Given the description of an element on the screen output the (x, y) to click on. 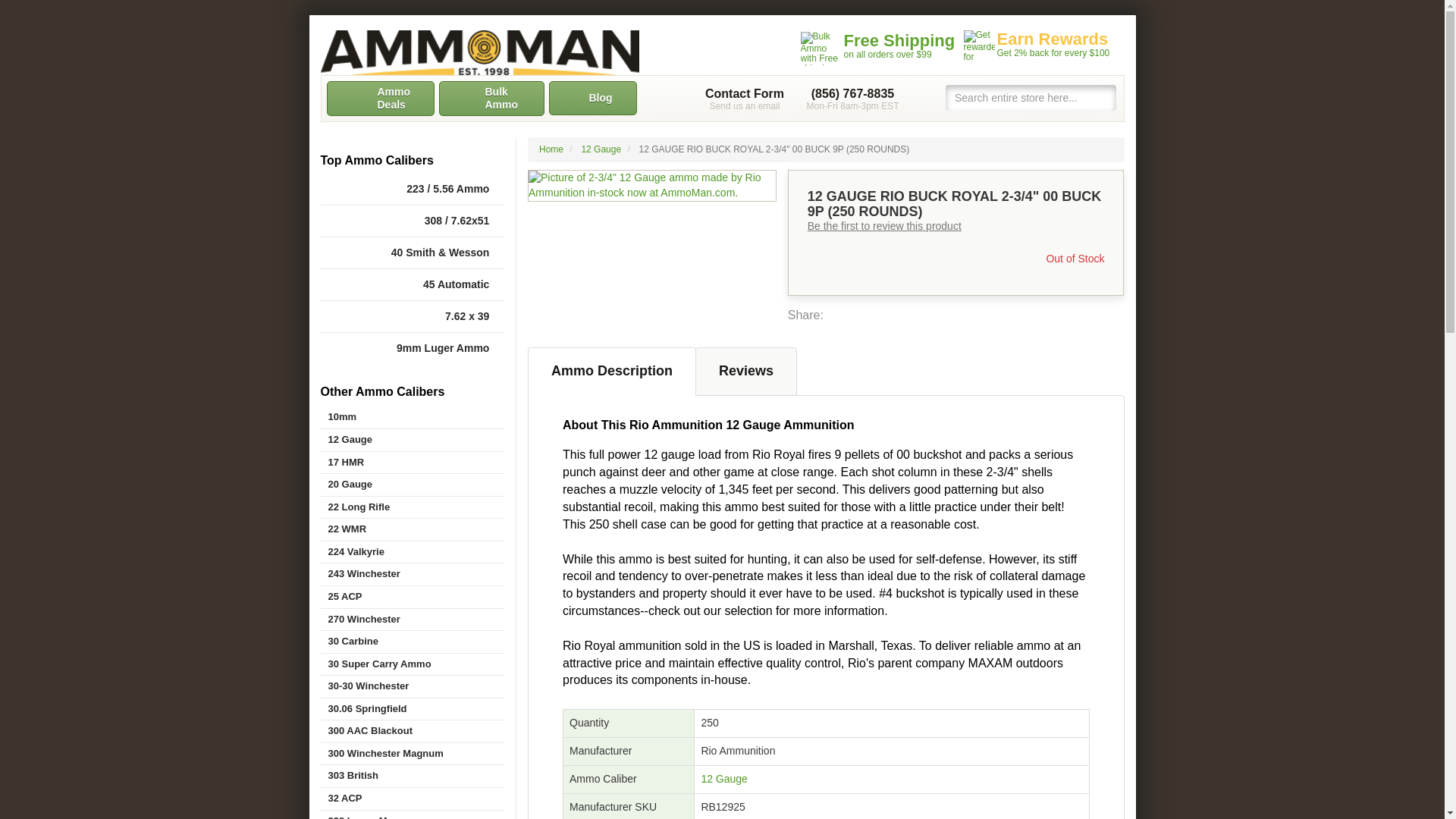
Blog (592, 98)
20 Gauge (411, 485)
25 ACP (411, 597)
Reviews (745, 371)
22 WMR (411, 529)
12 Gauge (411, 440)
Ammo Description (611, 371)
243 Winchester (411, 574)
Search (1104, 96)
Bulk Ammo (490, 98)
